Given the description of an element on the screen output the (x, y) to click on. 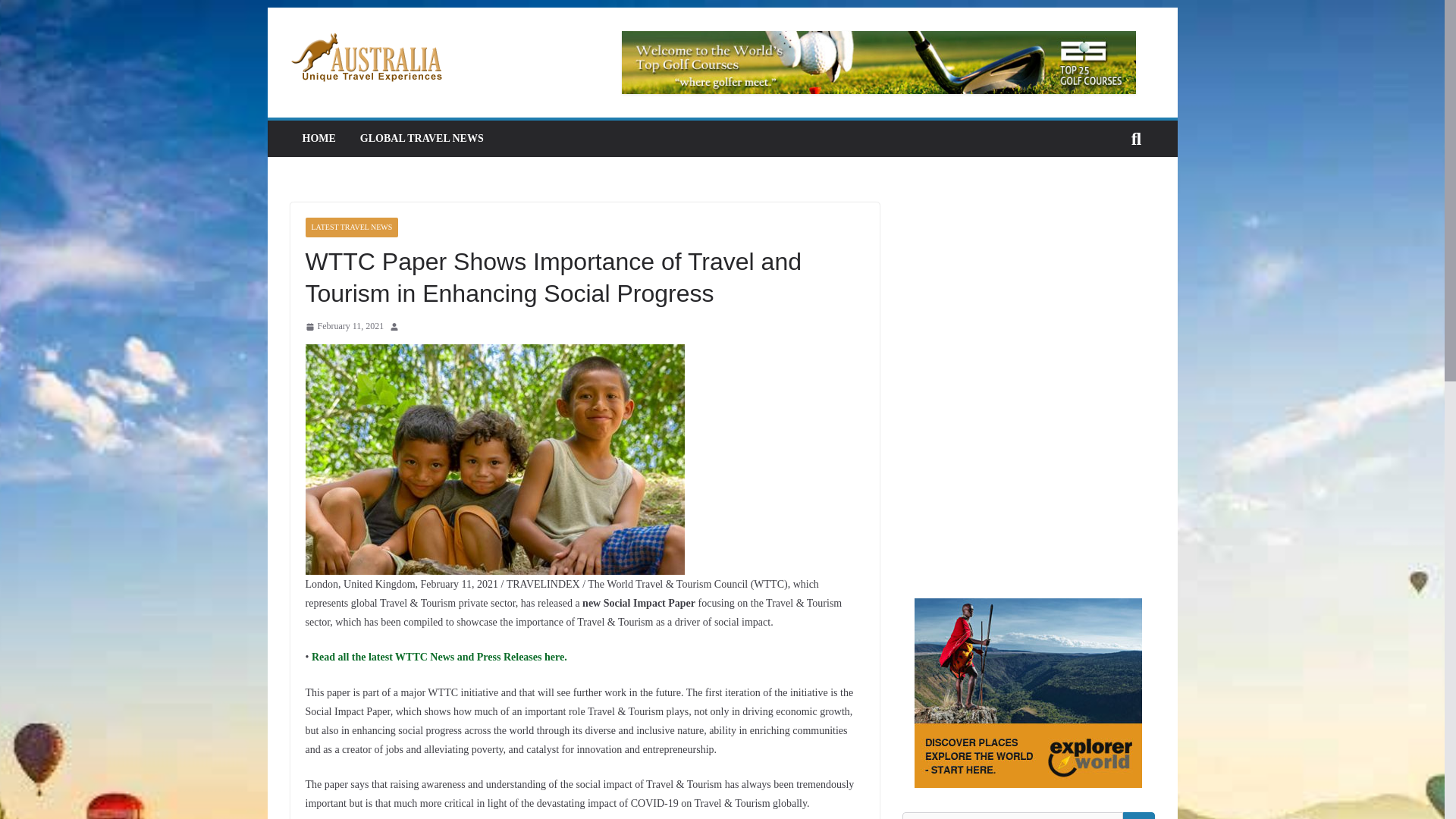
LATEST TRAVEL NEWS (350, 227)
Read all the latest WTTC News and Press Releases here. (437, 656)
February 11, 2021 (344, 326)
GLOBAL TRAVEL NEWS (421, 138)
4:42 am (344, 326)
HOME (317, 138)
